Given the description of an element on the screen output the (x, y) to click on. 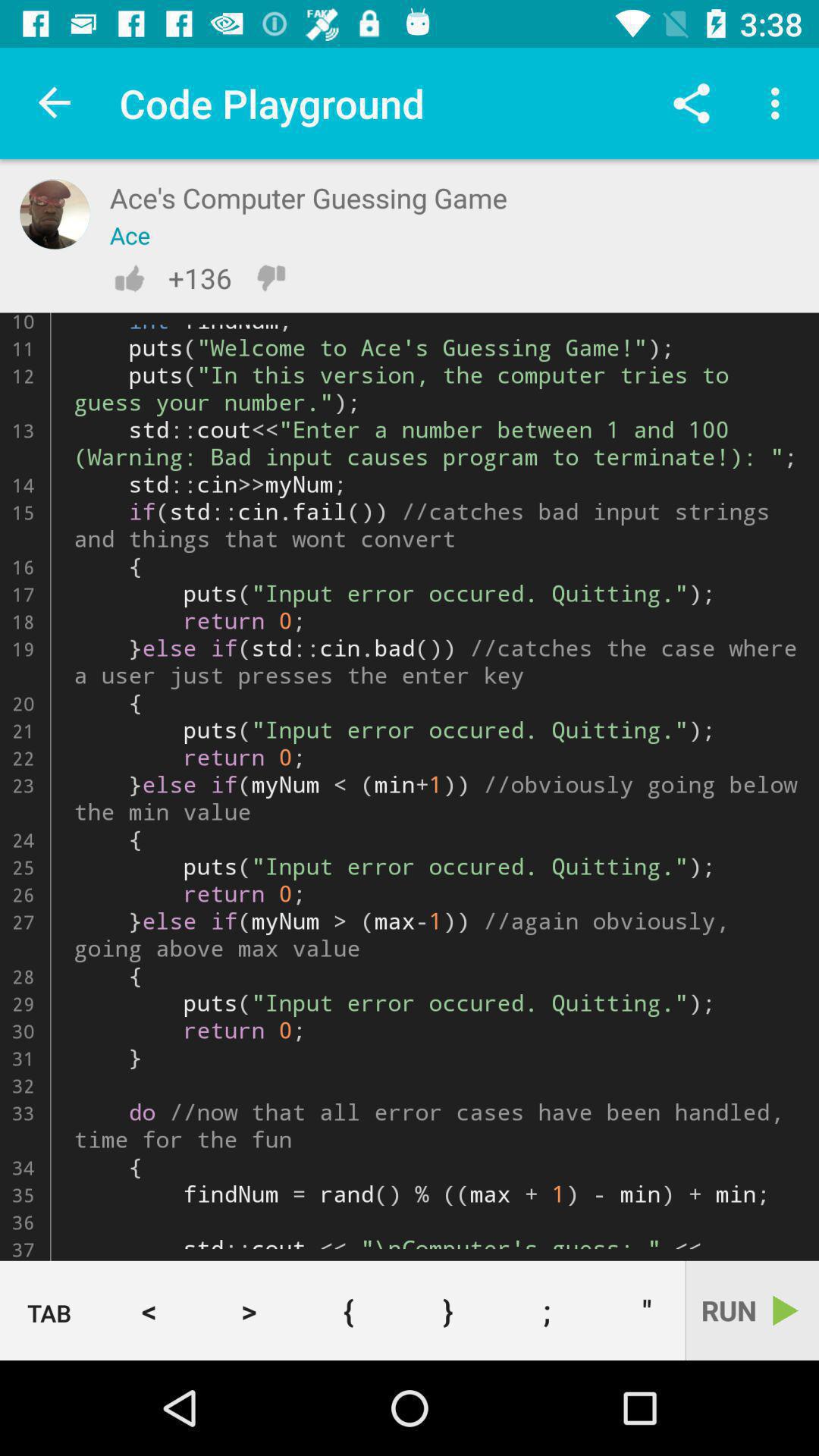
profile pic (54, 214)
